Given the description of an element on the screen output the (x, y) to click on. 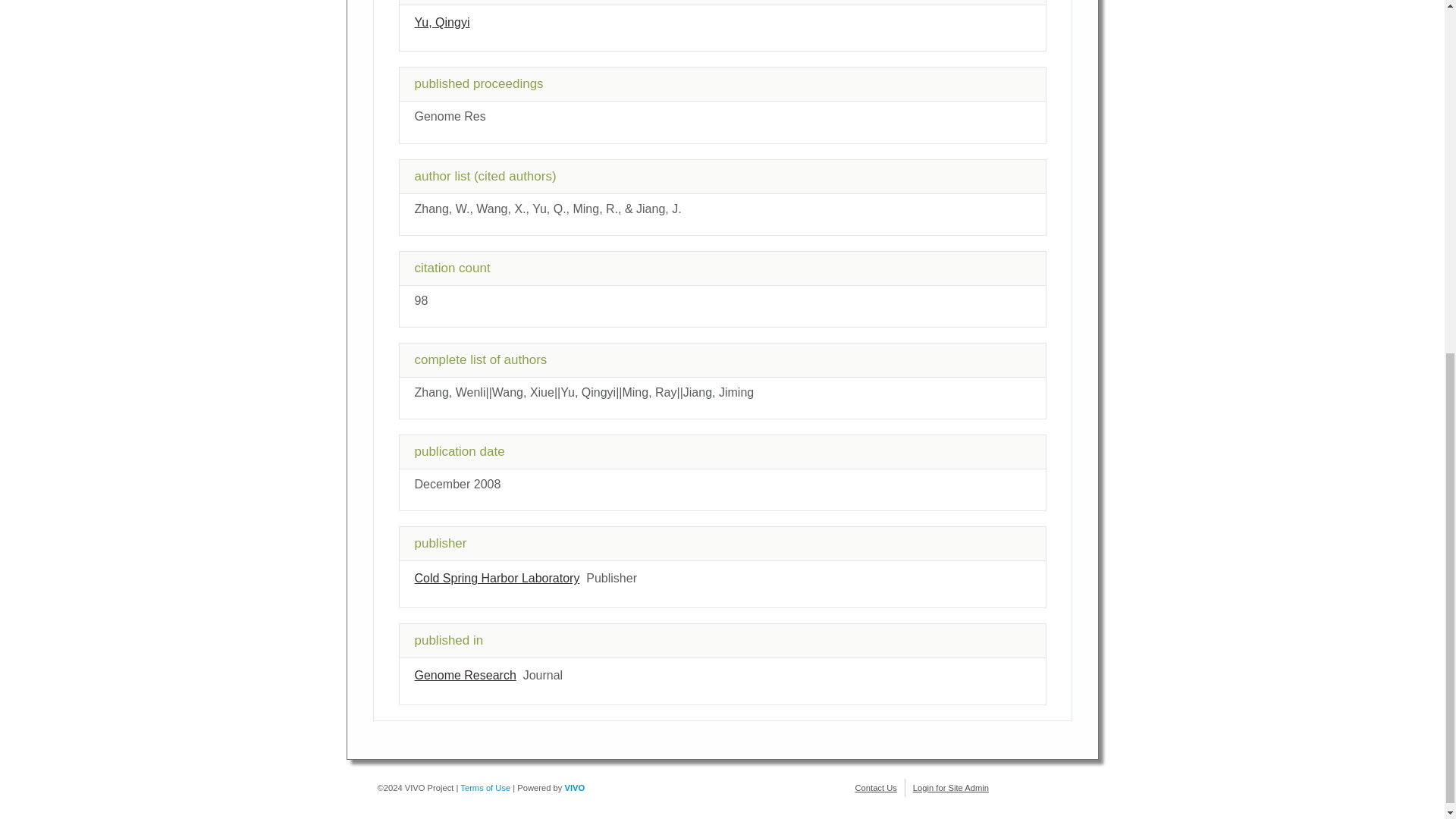
Genome Research (464, 675)
author name (440, 21)
Terms of Use (485, 787)
name (464, 675)
VIVO (574, 787)
Contact Us (876, 787)
Cold Spring Harbor Laboratory (496, 577)
Yu, Qingyi (440, 21)
Login for Site Admin (950, 787)
name (496, 577)
